Given the description of an element on the screen output the (x, y) to click on. 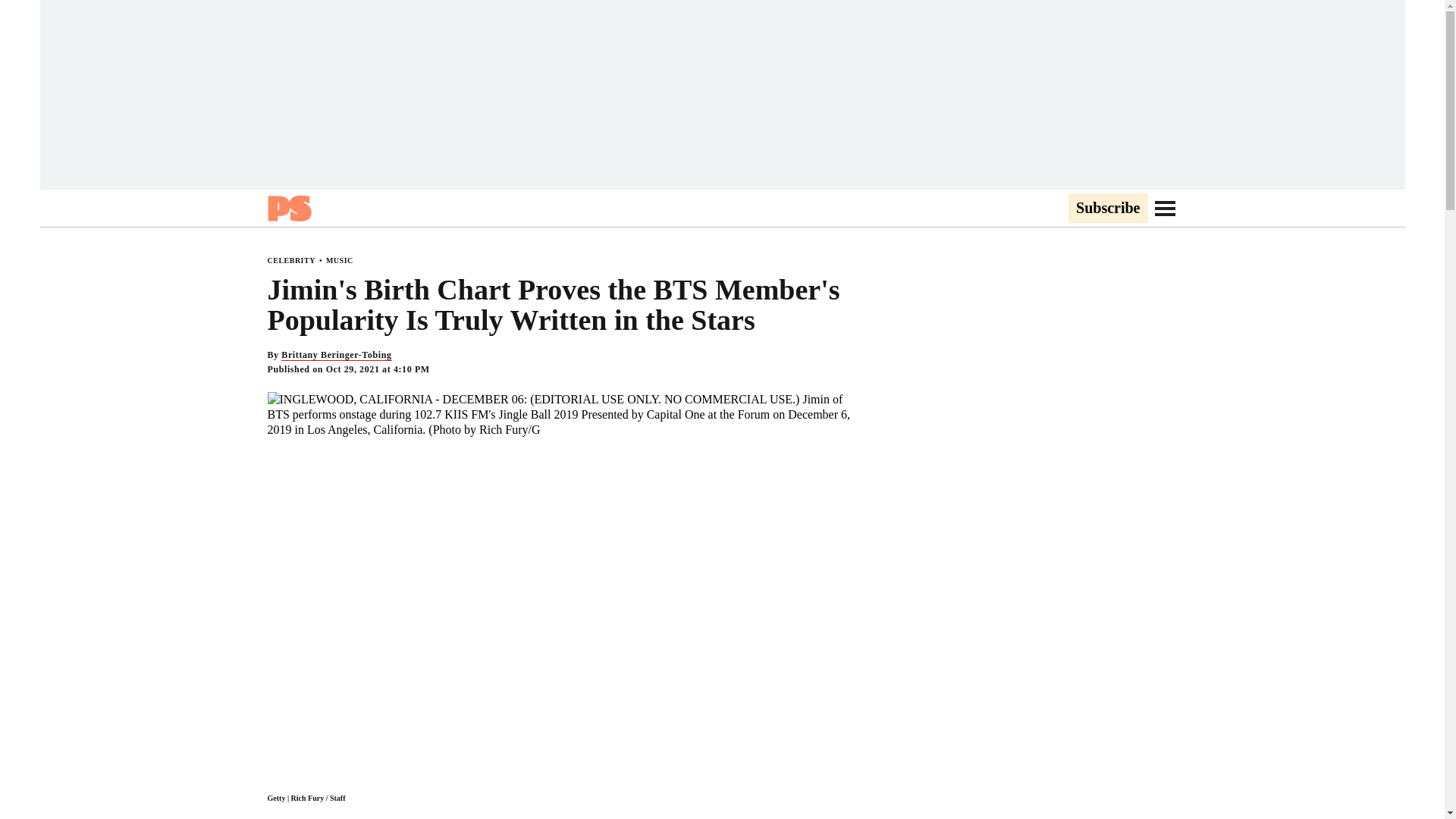
MUSIC (339, 260)
Brittany Beringer-Tobing (336, 355)
Go to Navigation (1164, 207)
Popsugar (288, 208)
CELEBRITY (290, 260)
Subscribe (1107, 208)
Go to Navigation (1164, 207)
